Given the description of an element on the screen output the (x, y) to click on. 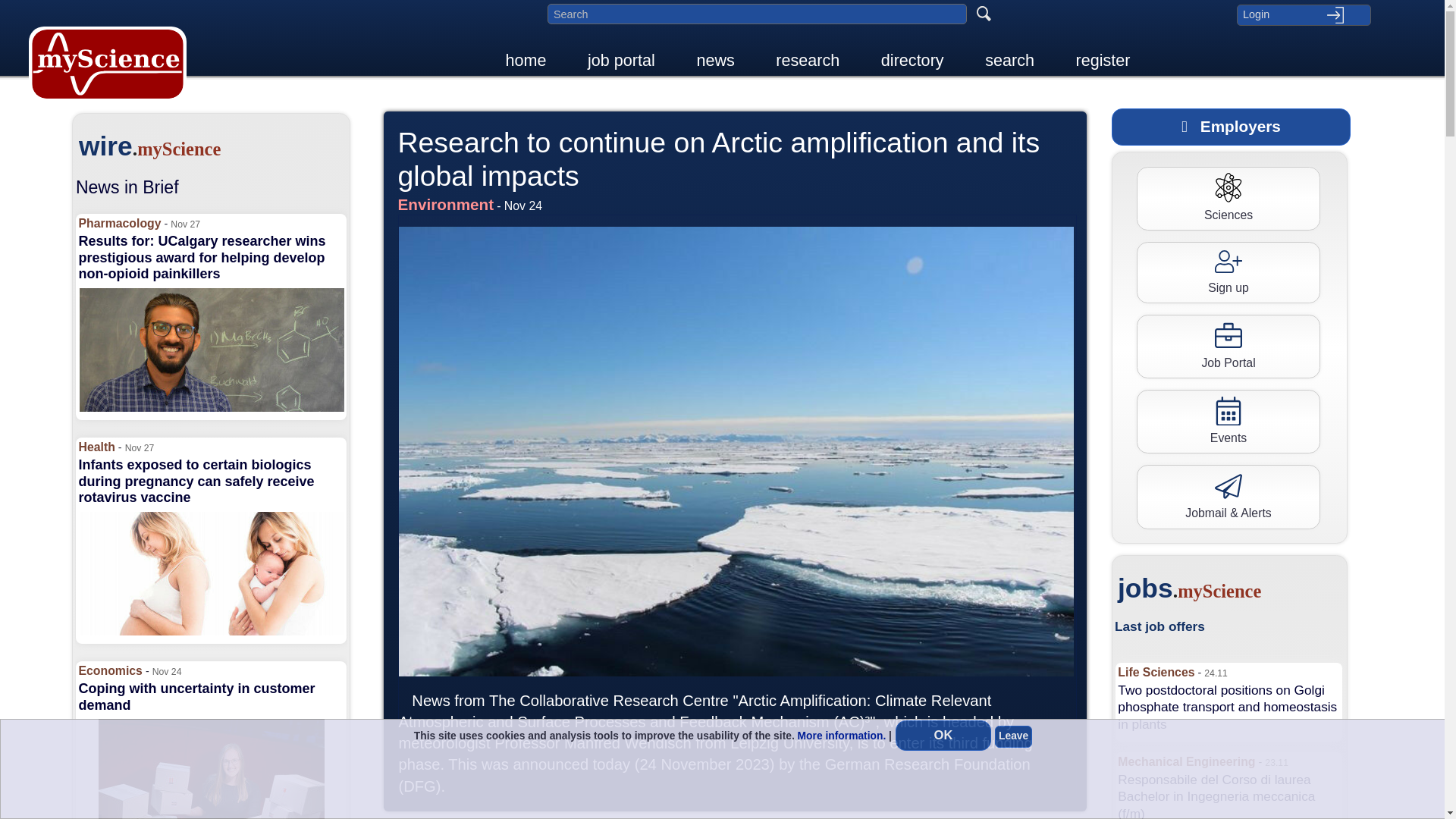
research Element type: text (807, 59)
myScience Home Element type: hover (107, 63)
directory Element type: text (912, 59)
news Element type: text (714, 59)
Leave Element type: text (1013, 735)
Jobmail & Alerts Element type: text (1228, 496)
Events Element type: text (1228, 421)
Login Element type: text (1303, 14)
OK Element type: text (943, 735)
home Element type: text (525, 59)
job portal Element type: text (621, 59)
Search in myscience.org Element type: hover (756, 13)
Sign up Element type: text (1228, 272)
News in Brief Element type: text (126, 187)
Login Element type: text (1303, 14)
More information. Element type: text (841, 735)
Job Portal Element type: text (1228, 346)
wire.myScience Element type: text (205, 147)
register Element type: text (1103, 59)
jobs.myScience Element type: text (1225, 589)
search Element type: text (1009, 59)
Sciences Element type: text (1228, 198)
Environment Element type: text (446, 205)
